Given the description of an element on the screen output the (x, y) to click on. 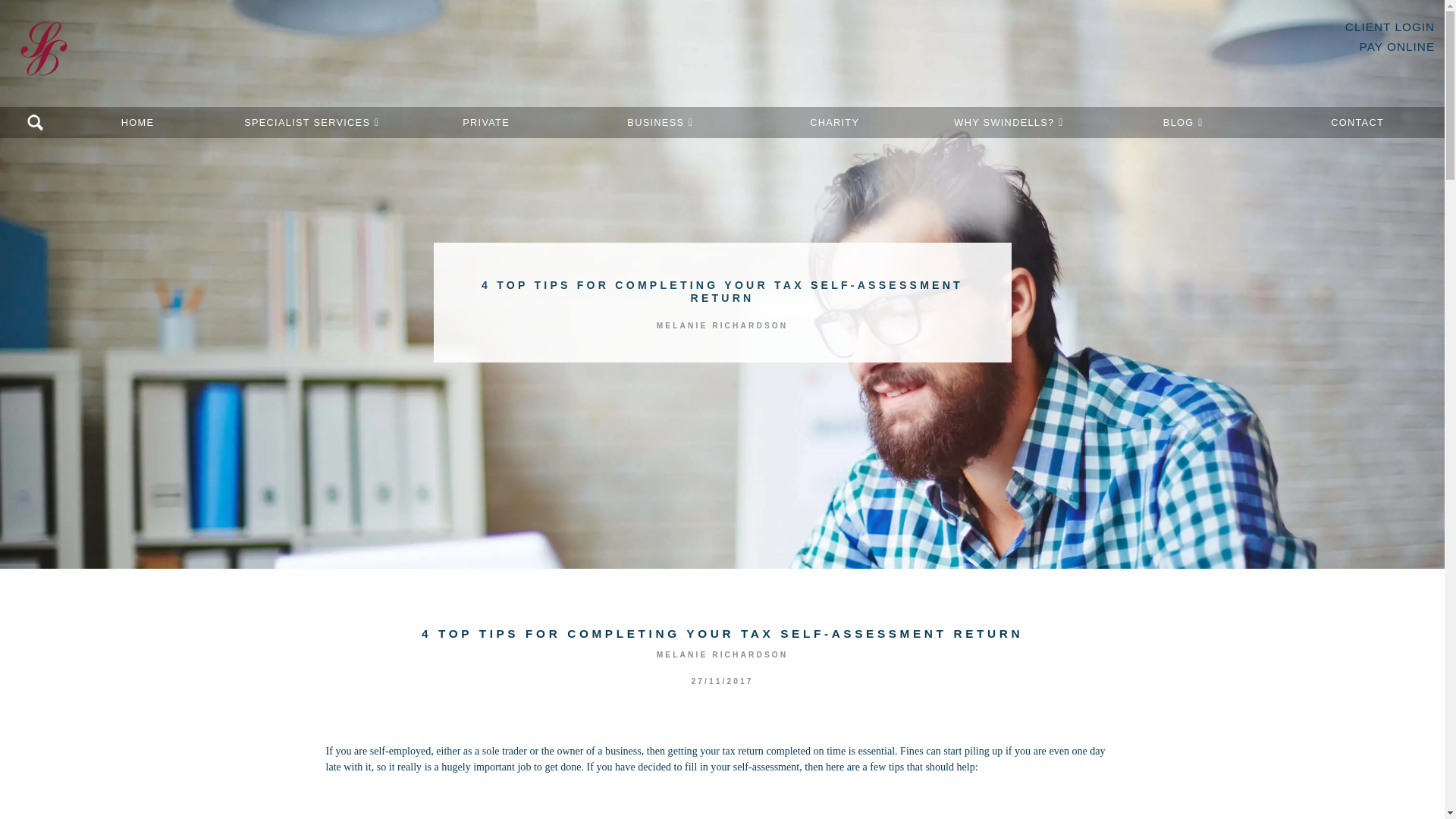
HOME (137, 122)
WHY SWINDELLS? (1008, 122)
BUSINESS (660, 122)
CHARITY (834, 122)
BLOG (1182, 122)
PAY ONLINE (1397, 46)
PRIVATE (485, 122)
SPECIALIST SERVICES (311, 122)
CLIENT LOGIN (1389, 26)
